Given the description of an element on the screen output the (x, y) to click on. 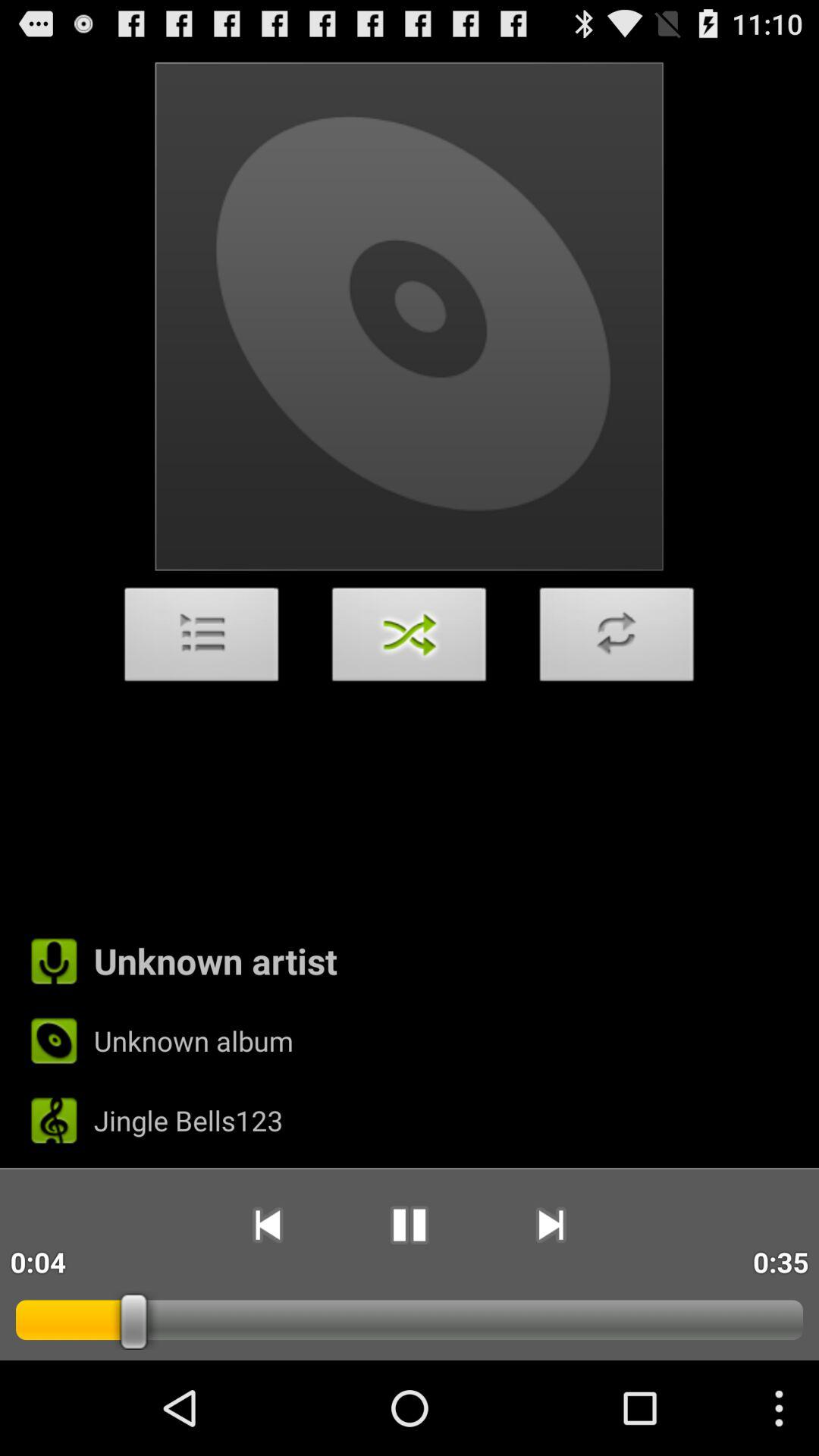
tap the item next to 0:35 (550, 1224)
